Given the description of an element on the screen output the (x, y) to click on. 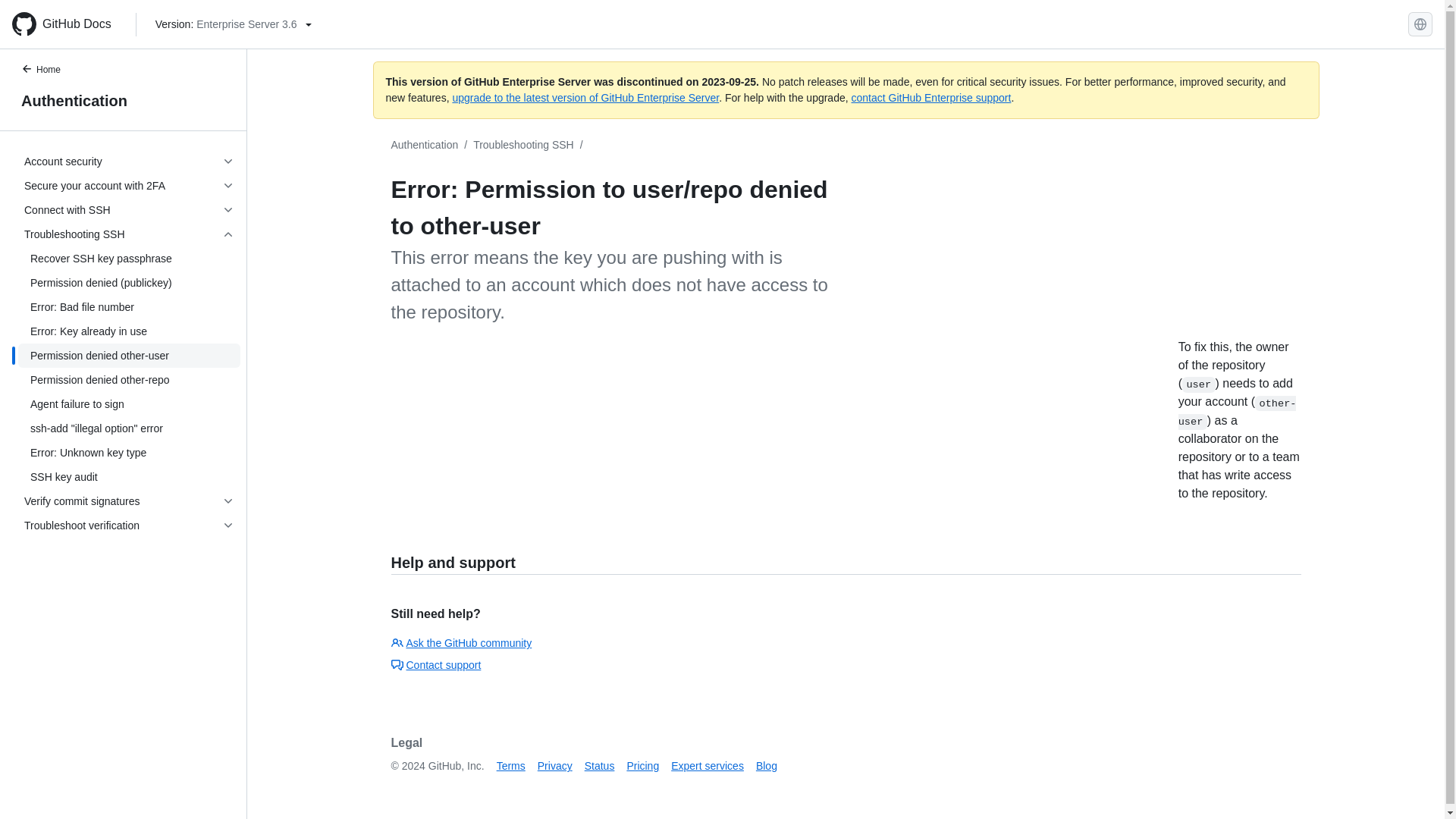
Home (49, 70)
Version: Enterprise Server 3.6 (233, 24)
Connect with SSH (128, 209)
GitHub Docs (67, 24)
Secure your account with 2FA (128, 185)
Troubleshooting SSH (523, 144)
Authentication (424, 144)
Account security (128, 161)
Authentication (122, 100)
